Given the description of an element on the screen output the (x, y) to click on. 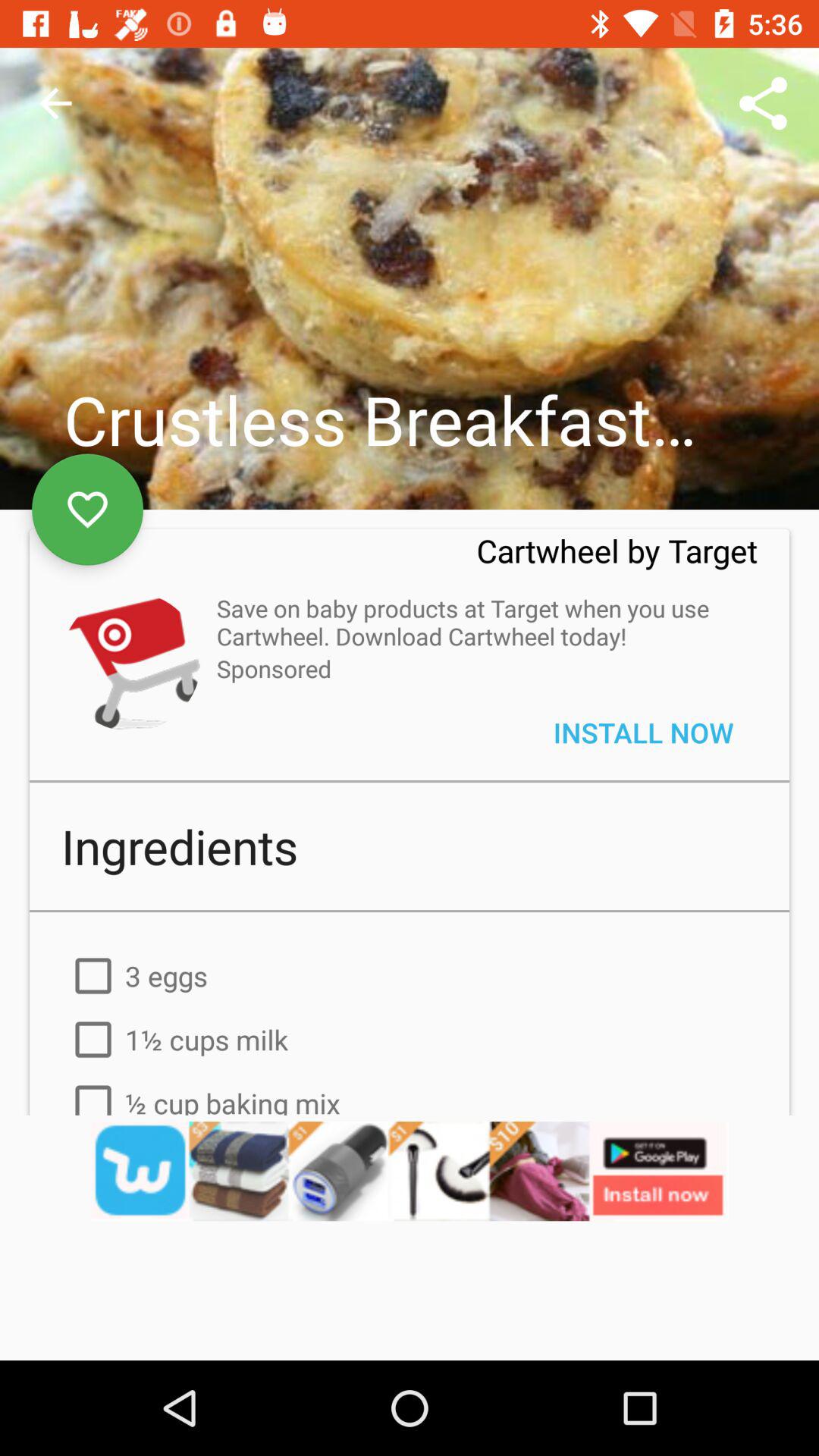
favorites (87, 509)
